Given the description of an element on the screen output the (x, y) to click on. 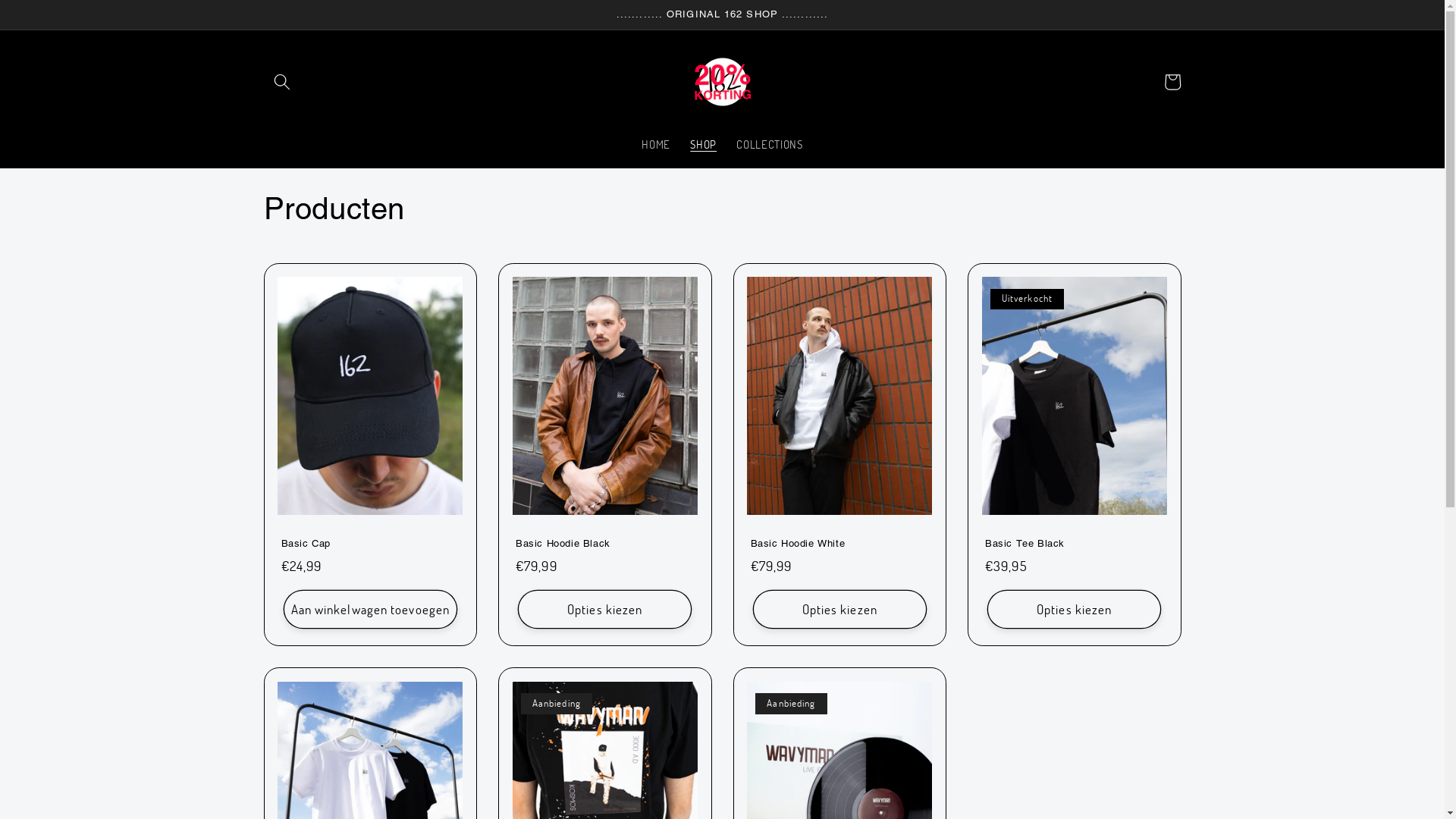
Basic Hoodie Black Element type: text (604, 543)
HOME Element type: text (655, 144)
Opties kiezen Element type: text (1074, 609)
Basic Cap Element type: text (369, 543)
SHOP Element type: text (703, 144)
Basic Tee Black Element type: text (1074, 543)
COLLECTIONS Element type: text (769, 144)
Opties kiezen Element type: text (839, 609)
Aan winkelwagen toevoegen Element type: text (370, 609)
Winkelwagen Element type: text (1172, 81)
Opties kiezen Element type: text (604, 609)
Basic Hoodie White Element type: text (839, 543)
